Given the description of an element on the screen output the (x, y) to click on. 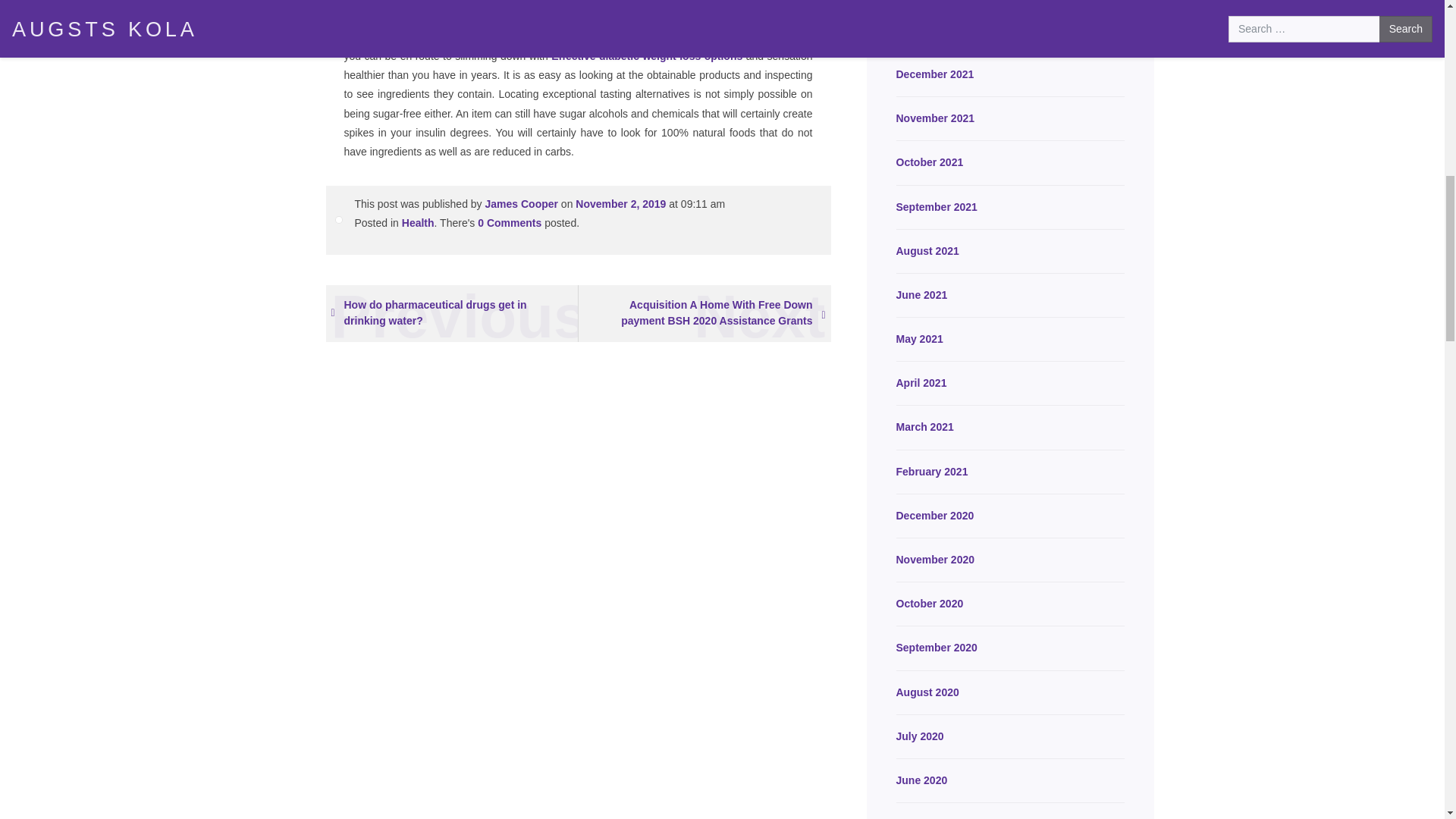
November 2020 (1010, 559)
January 2022 (1010, 30)
February 2021 (1010, 471)
May 2021 (1010, 339)
October 2021 (1010, 162)
October 2020 (1010, 603)
How do pharmaceutical drugs get in drinking water? (452, 313)
September 2021 (1010, 206)
Health (417, 223)
Effective diabetic weight loss options (646, 55)
August 2021 (1010, 251)
September 2020 (1010, 647)
June 2021 (1010, 294)
December 2020 (1010, 515)
